Given the description of an element on the screen output the (x, y) to click on. 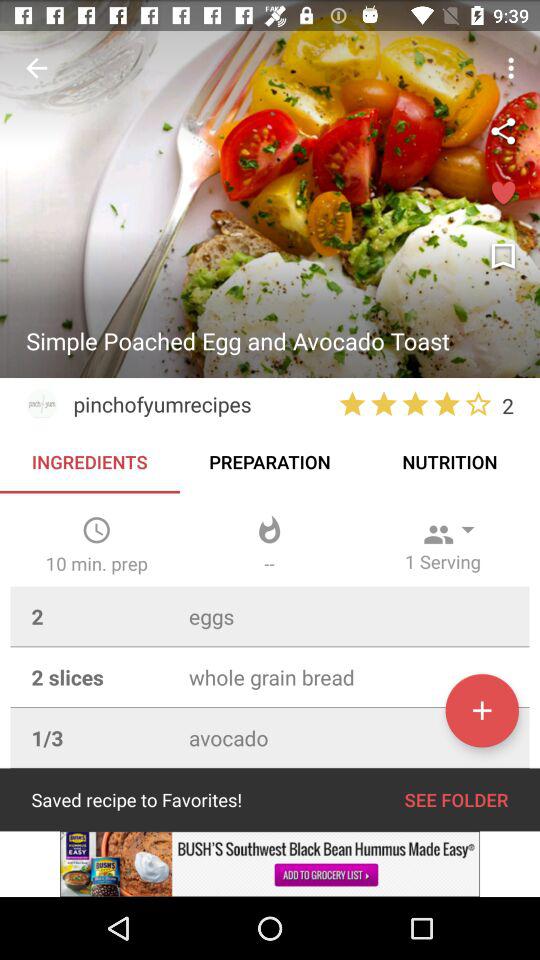
advertisement for bush 's (270, 864)
